Given the description of an element on the screen output the (x, y) to click on. 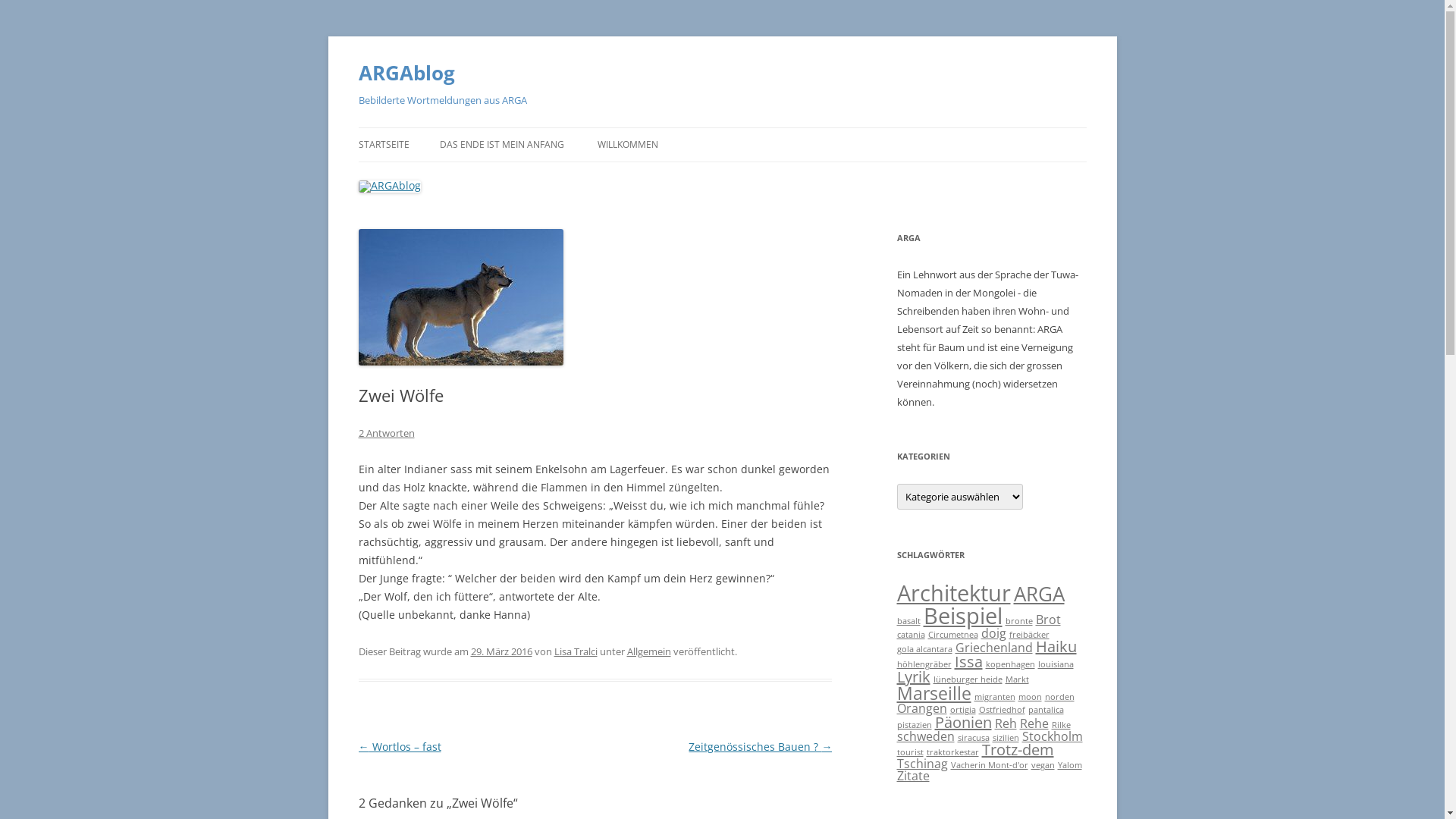
Allgemein Element type: text (648, 651)
Lyrik Element type: text (912, 676)
moon Element type: text (1029, 696)
Issa Element type: text (967, 661)
Haiku Element type: text (1055, 646)
Brot Element type: text (1047, 619)
schweden Element type: text (924, 736)
Markt Element type: text (1017, 679)
ARGA Element type: text (1038, 593)
Marseille Element type: text (933, 692)
norden Element type: text (1059, 696)
Ostfriedhof Element type: text (1001, 709)
Stockholm Element type: text (1052, 736)
Tschinag Element type: text (921, 763)
Lisa Tralci Element type: text (574, 651)
sizilien Element type: text (1004, 737)
Vacherin Mont-d'or Element type: text (989, 764)
Rehe Element type: text (1033, 723)
STARTSEITE Element type: text (382, 144)
Rilke Element type: text (1060, 724)
pantalica Element type: text (1045, 709)
ARGAblog Element type: text (405, 72)
tourist Element type: text (909, 751)
Zum Inhalt springen Element type: text (721, 127)
catania Element type: text (910, 634)
siracusa Element type: text (972, 737)
traktorkestar Element type: text (952, 751)
Orangen Element type: text (921, 707)
doig Element type: text (993, 632)
pistazien Element type: text (913, 724)
vegan Element type: text (1042, 764)
Griechenland Element type: text (993, 647)
louisiana Element type: text (1055, 663)
kopenhagen Element type: text (1010, 663)
2 Antworten Element type: text (385, 432)
Zitate Element type: text (912, 775)
Architektur Element type: text (953, 592)
ortigia Element type: text (962, 709)
Beispiel Element type: text (962, 615)
Circumetnea Element type: text (953, 634)
Yalom Element type: text (1069, 764)
basalt Element type: text (907, 620)
DAS ENDE IST MEIN ANFANG Element type: text (501, 144)
WILLKOMMEN Element type: text (627, 144)
migranten Element type: text (993, 696)
Reh Element type: text (1005, 723)
bronte Element type: text (1018, 620)
Trotz-dem Element type: text (1017, 749)
gola alcantara Element type: text (923, 648)
